Given the description of an element on the screen output the (x, y) to click on. 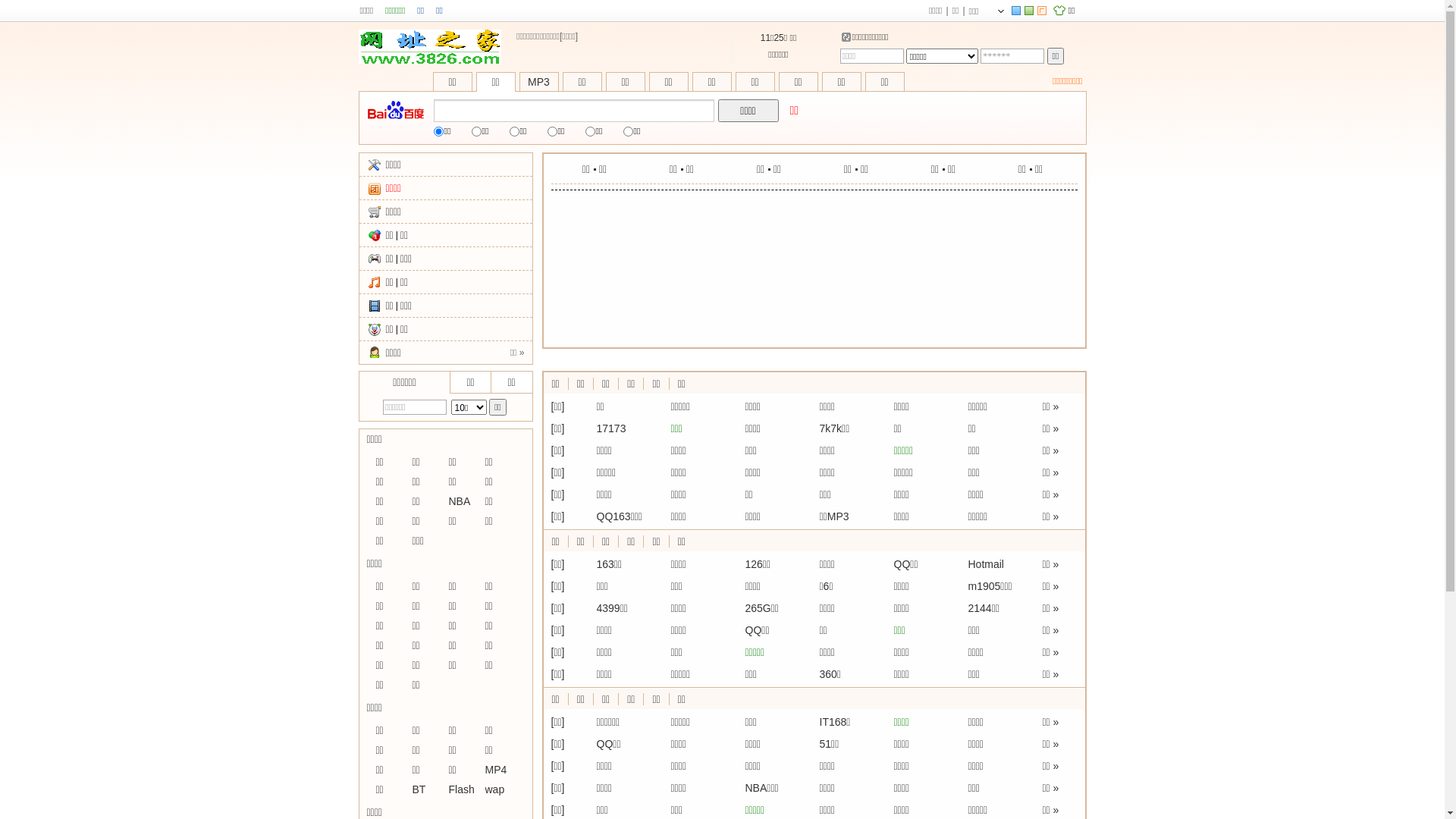
Flash Element type: text (461, 789)
wap Element type: text (495, 789)
17173 Element type: text (610, 428)
MP3 Element type: text (538, 81)
NBA Element type: text (459, 501)
MP4 Element type: text (496, 769)
BT Element type: text (419, 789)
Hotmail Element type: text (985, 564)
